Given the description of an element on the screen output the (x, y) to click on. 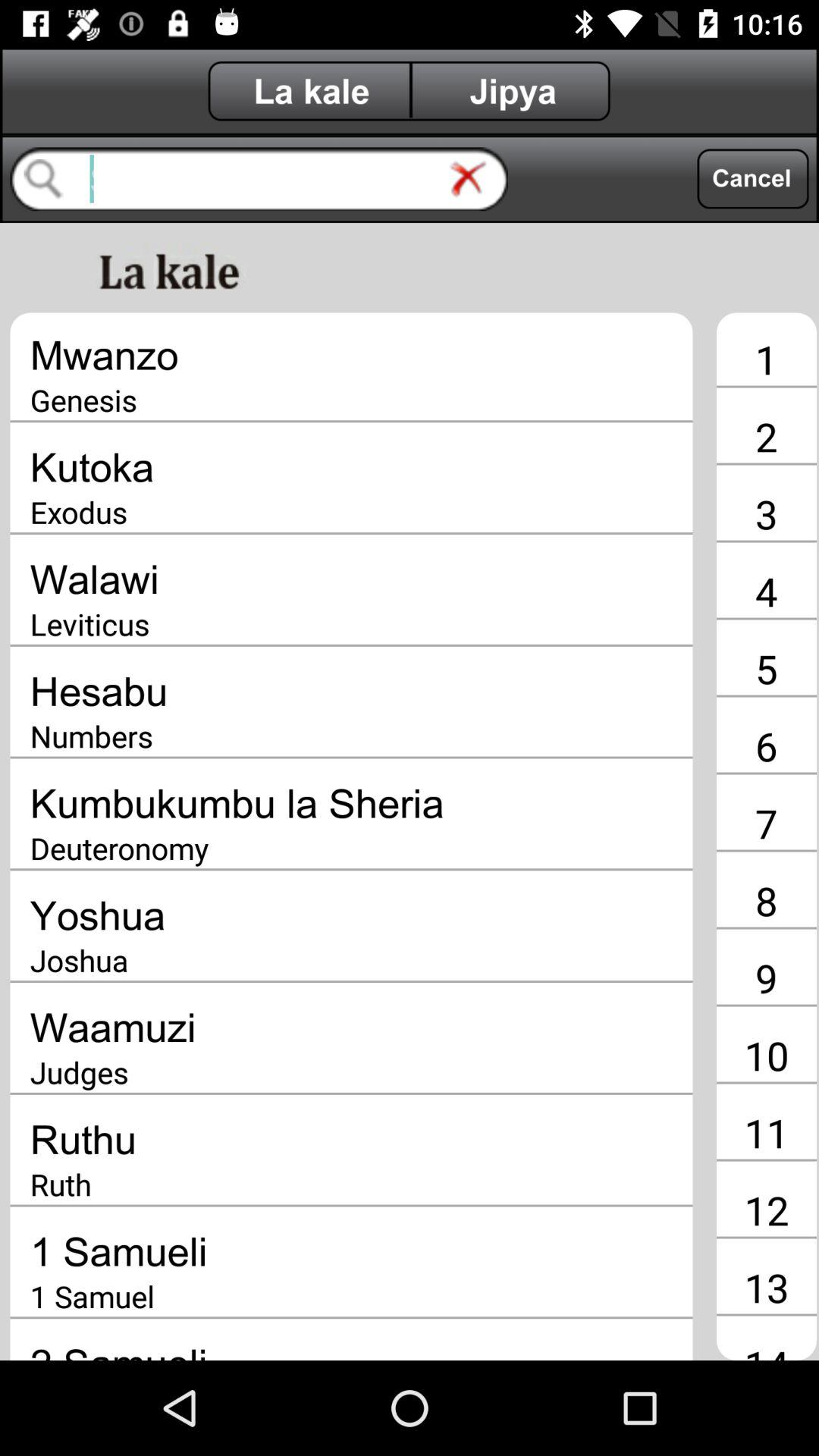
swipe until 13 app (766, 1286)
